Given the description of an element on the screen output the (x, y) to click on. 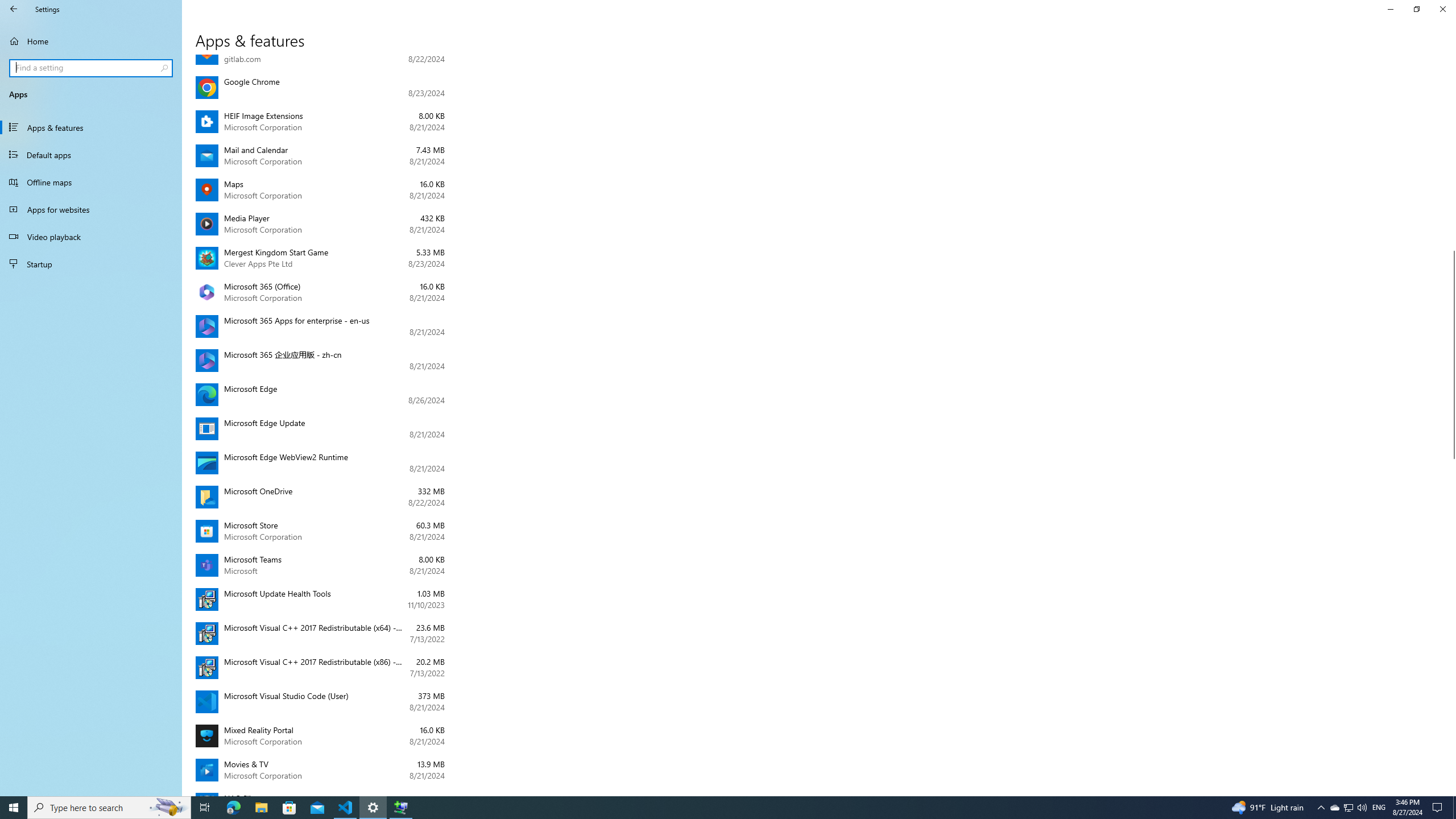
Default apps (91, 154)
Vertical Large Increase (1451, 622)
Extensible Wizards Host Process - 1 running window (400, 807)
Video playback (91, 236)
